Given the description of an element on the screen output the (x, y) to click on. 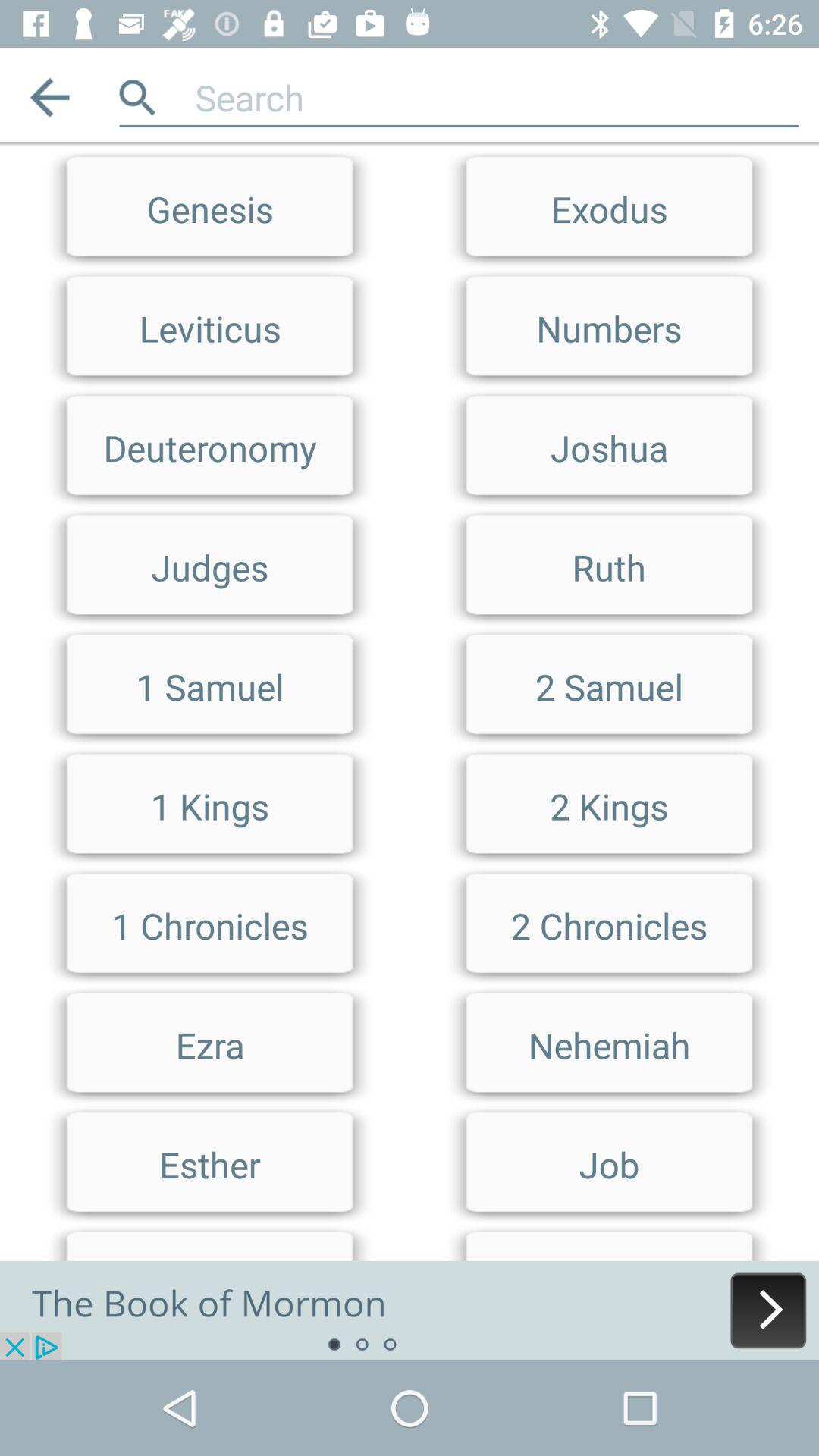
search bar (409, 148)
